Given the description of an element on the screen output the (x, y) to click on. 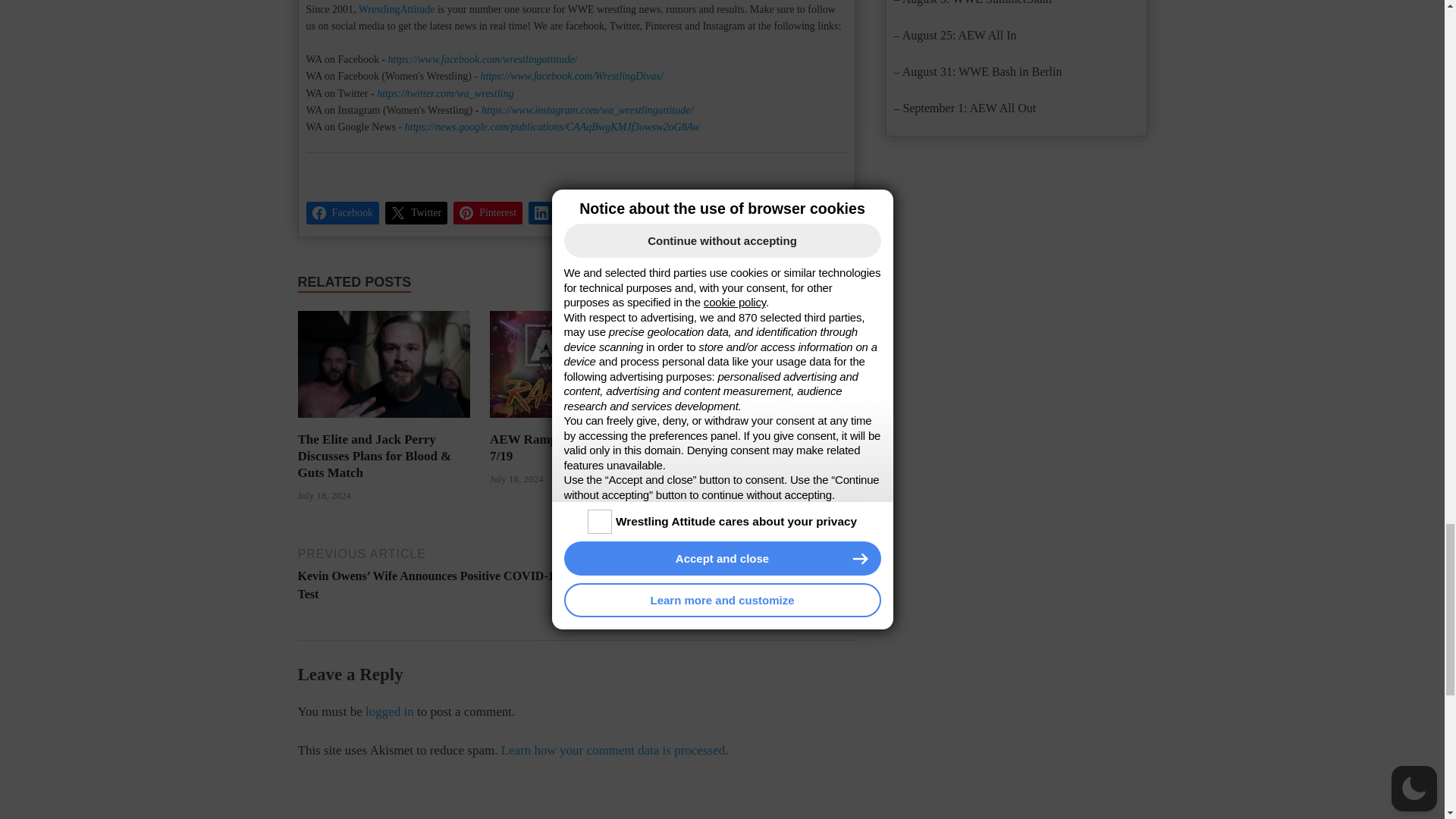
Mariah May Explains Why She Turned on Toni Storm (769, 364)
Mariah May Explains Why She Turned on Toni Storm (757, 447)
Mariah May Explains Why She Turned on Toni Storm (769, 421)
